Given the description of an element on the screen output the (x, y) to click on. 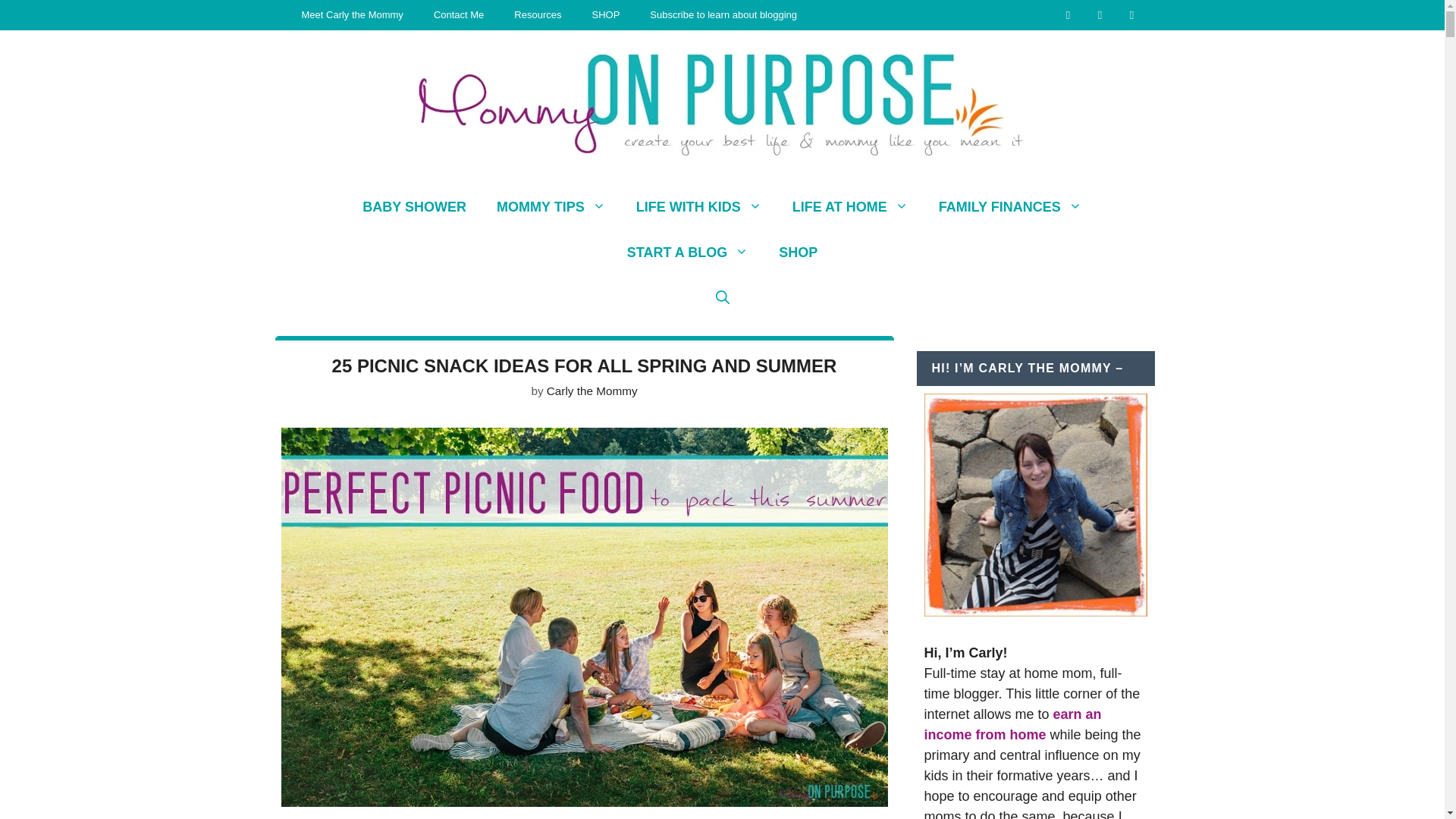
Resources (537, 15)
Contact (1068, 13)
Contact Me (459, 15)
Facebook (1100, 13)
Meet Carly the Mommy (352, 15)
SHOP (605, 15)
Subscribe to learn about blogging (723, 15)
View all posts by Carly the Mommy (592, 390)
Pinterest (1131, 13)
